Given the description of an element on the screen output the (x, y) to click on. 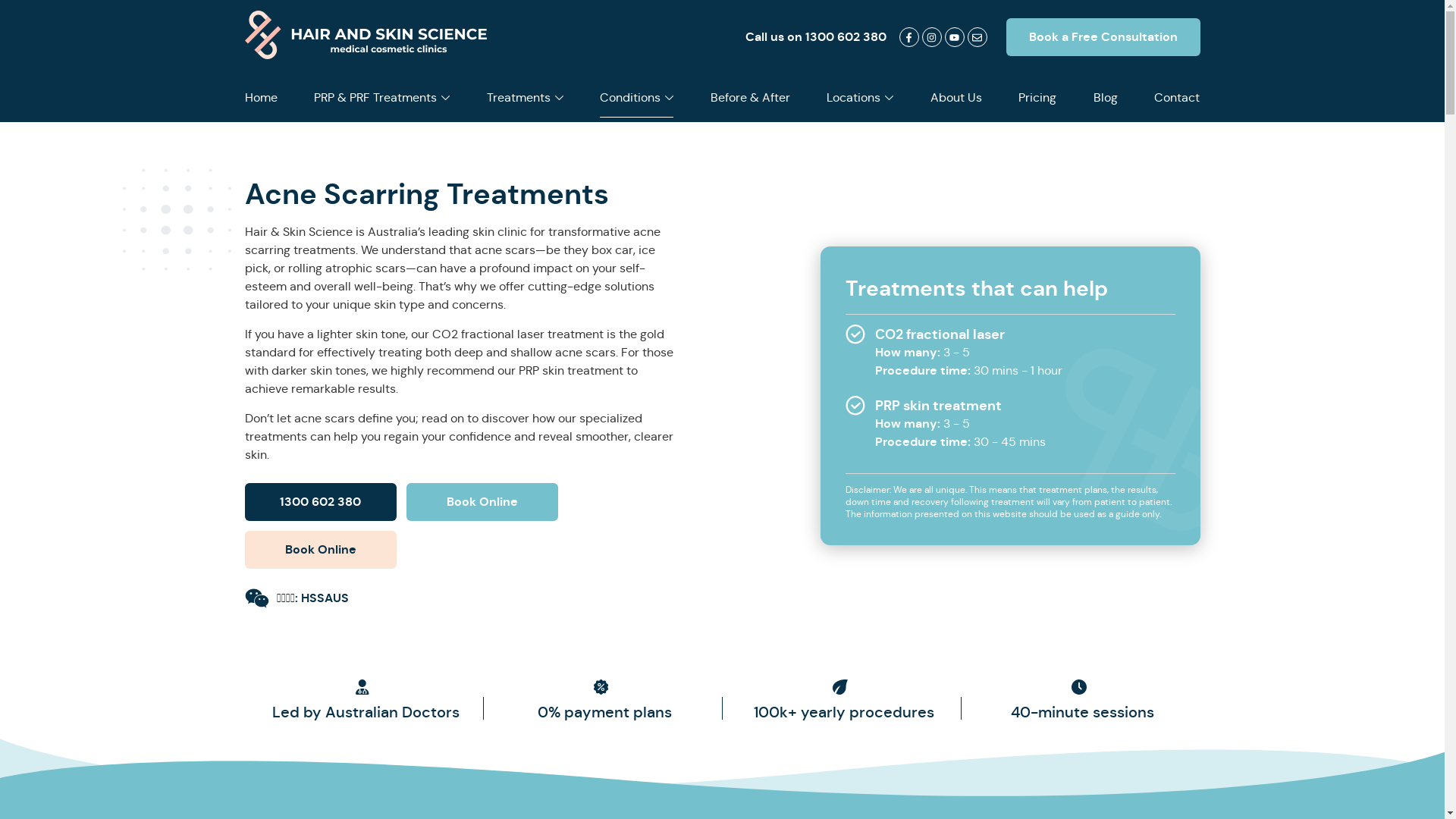
1300 602 380 Element type: text (319, 501)
Locations Element type: text (859, 97)
PRP & PRF Treatments Element type: text (381, 97)
Book Online Element type: text (482, 501)
About Us Element type: text (956, 97)
Conditions Element type: text (636, 97)
Book Online Element type: text (319, 549)
Book a Free Consultation Element type: text (1102, 37)
Blog Element type: text (1105, 97)
Pricing Element type: text (1037, 97)
PRP skin treatment Element type: text (938, 405)
Before & After Element type: text (750, 97)
Contact Element type: text (1176, 97)
Call us on 1300 602 380 Element type: text (814, 36)
CO2 fractional laser Element type: text (939, 333)
Home Element type: text (260, 97)
Treatments Element type: text (524, 97)
